Given the description of an element on the screen output the (x, y) to click on. 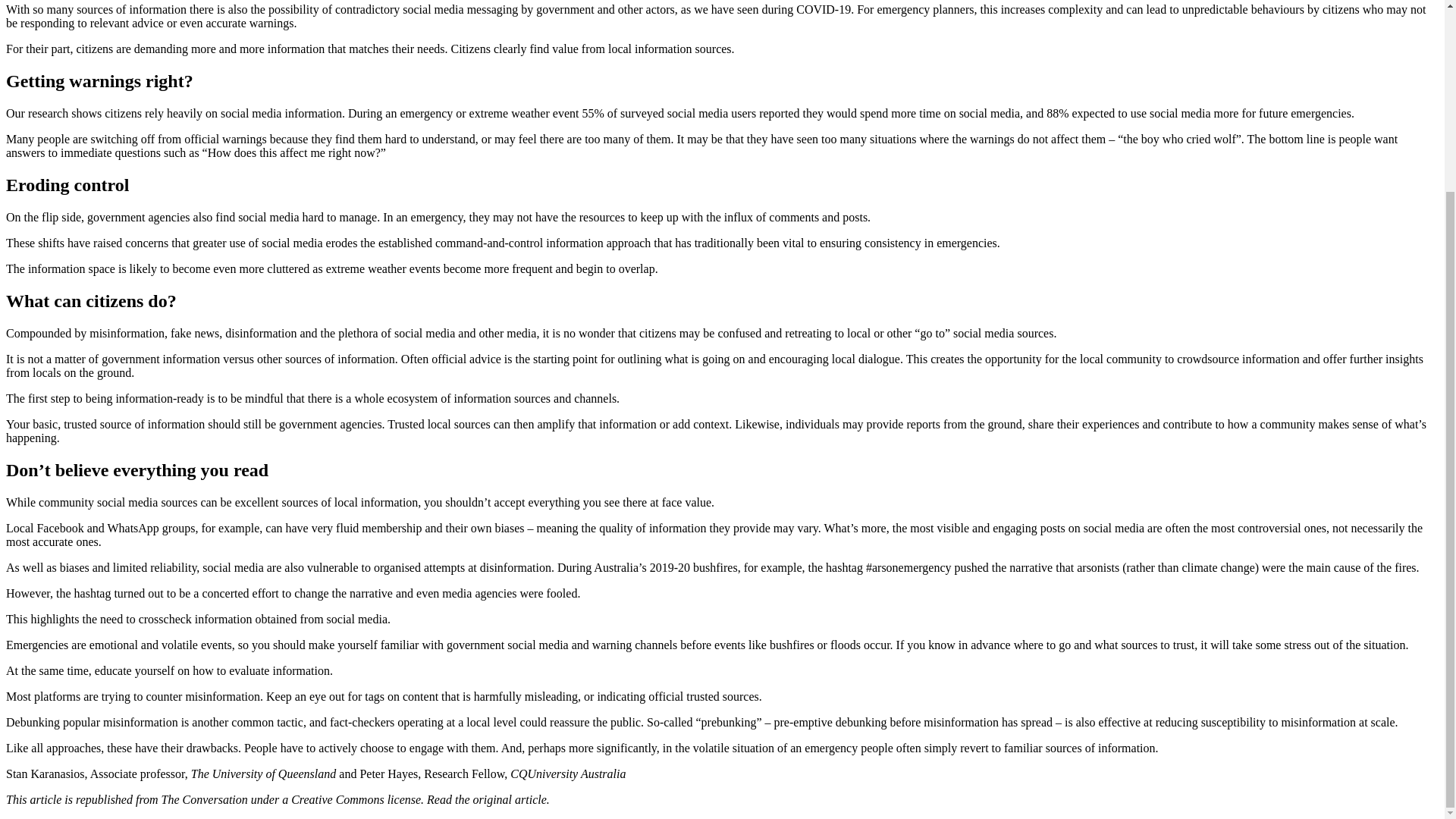
raised concerns (130, 242)
On the flip side (43, 216)
concerted effort to change the narrative (297, 592)
even media agencies (466, 592)
find value (553, 48)
Stan Karanasios (44, 772)
how to evaluate information (261, 669)
effective (1118, 721)
The Conversation (204, 798)
Peter Hayes (388, 772)
